Given the description of an element on the screen output the (x, y) to click on. 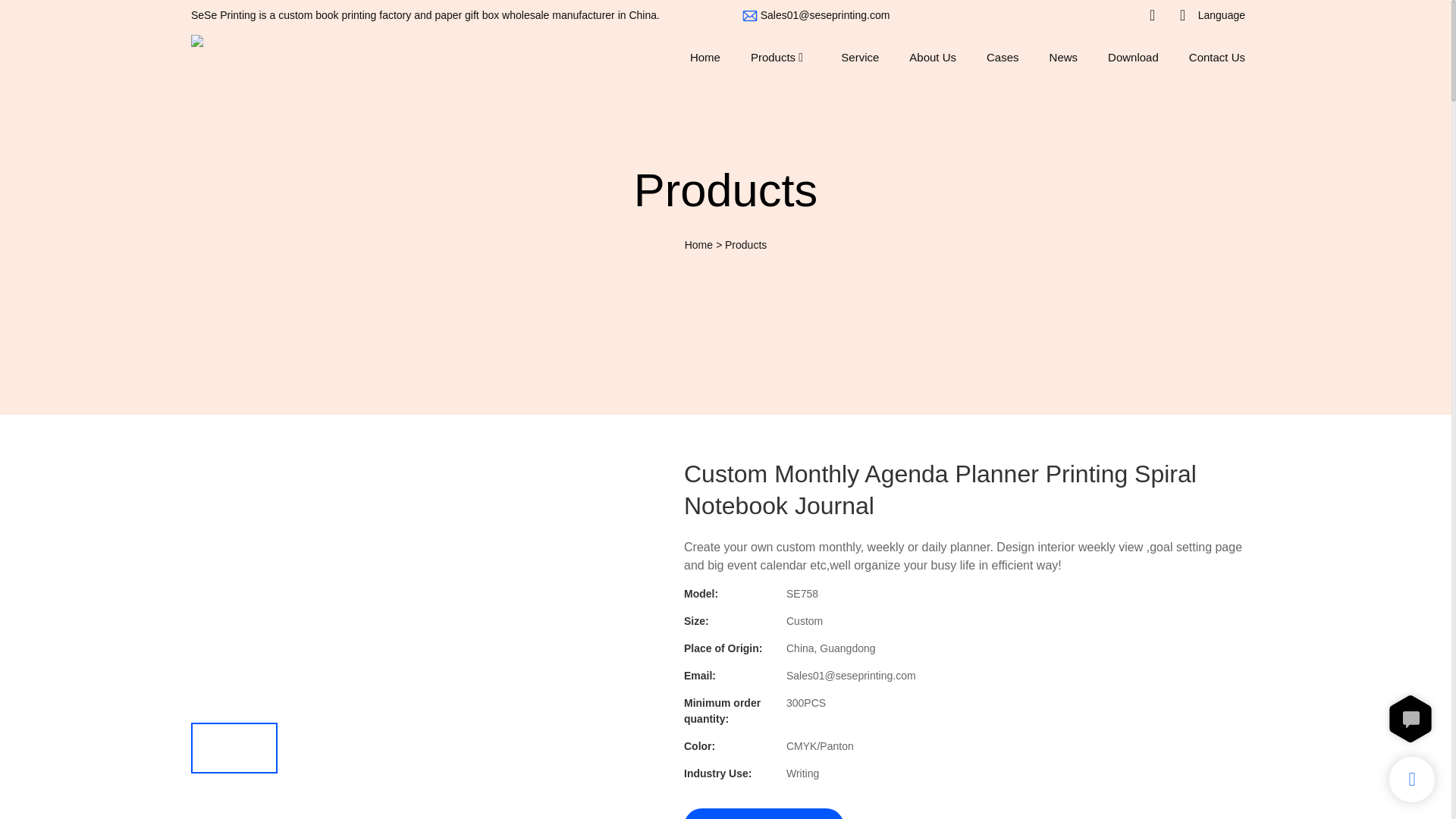
Download (1133, 56)
Home (705, 56)
Products (746, 244)
About Us (932, 56)
Products (772, 56)
Contact Us (1216, 56)
News (1063, 56)
Service (860, 56)
Cases (1003, 56)
Home (698, 244)
